Given the description of an element on the screen output the (x, y) to click on. 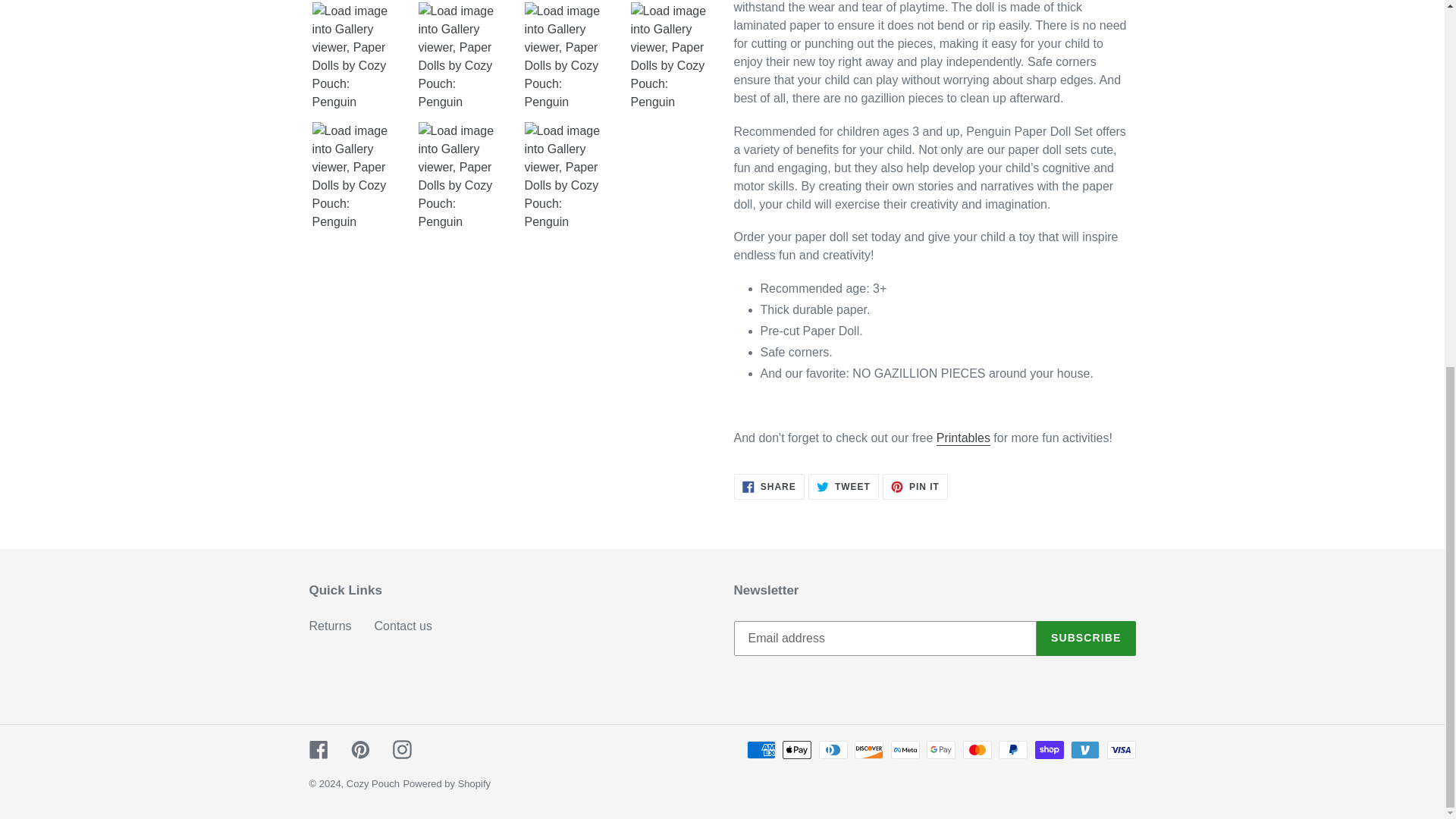
Printable Paper Dolls (843, 486)
Printables (963, 438)
Returns (914, 486)
